Given the description of an element on the screen output the (x, y) to click on. 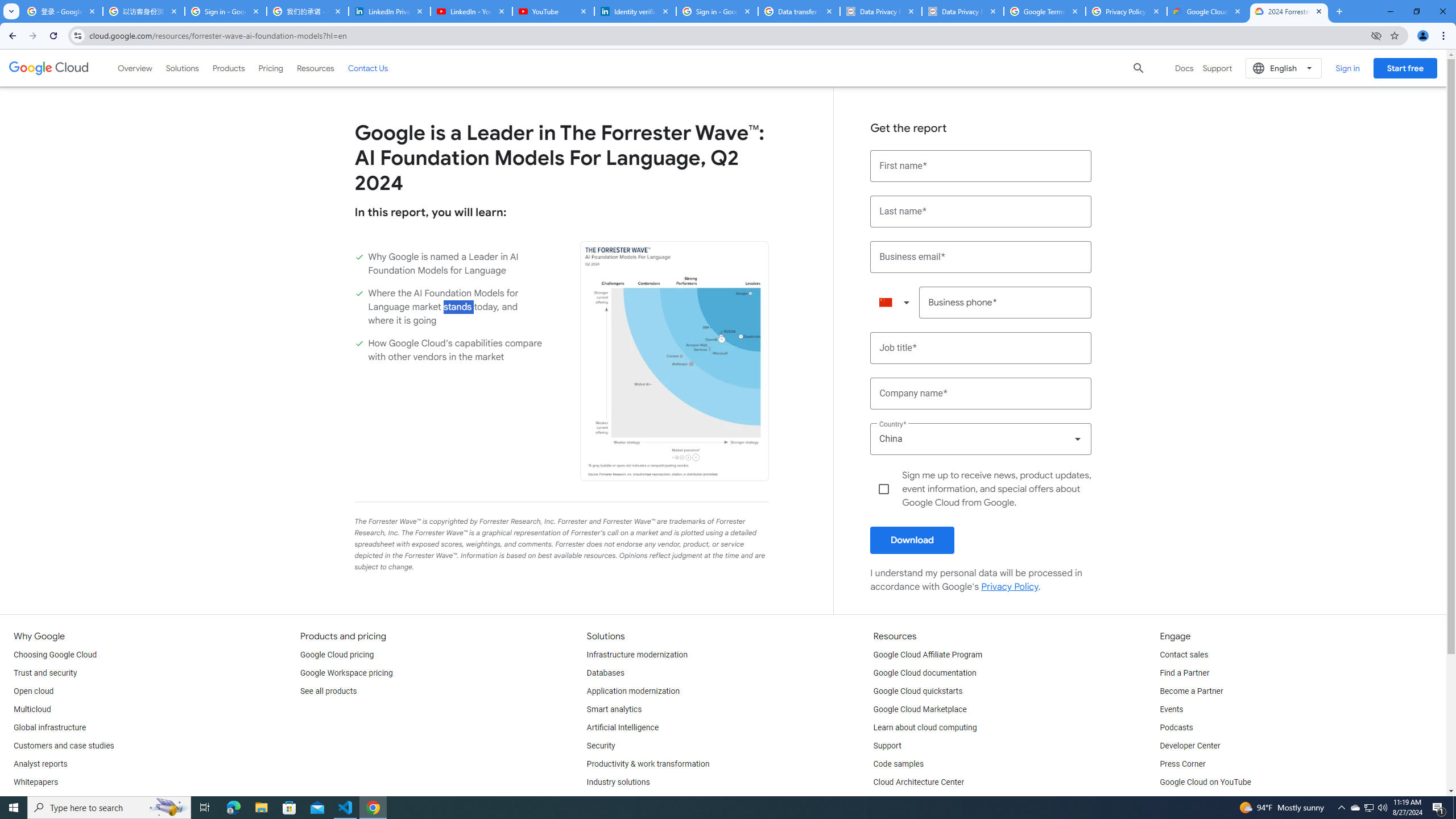
Google Cloud (48, 67)
First name* (981, 165)
Trust and security (45, 673)
Analyst reports (39, 764)
Google Cloud Tech on YouTube (1214, 800)
Customers and case studies (64, 746)
Contact Us (368, 67)
Databases (605, 673)
Calling Code (+86) (894, 302)
Business phone* (1005, 302)
Find a Partner (1183, 673)
